Given the description of an element on the screen output the (x, y) to click on. 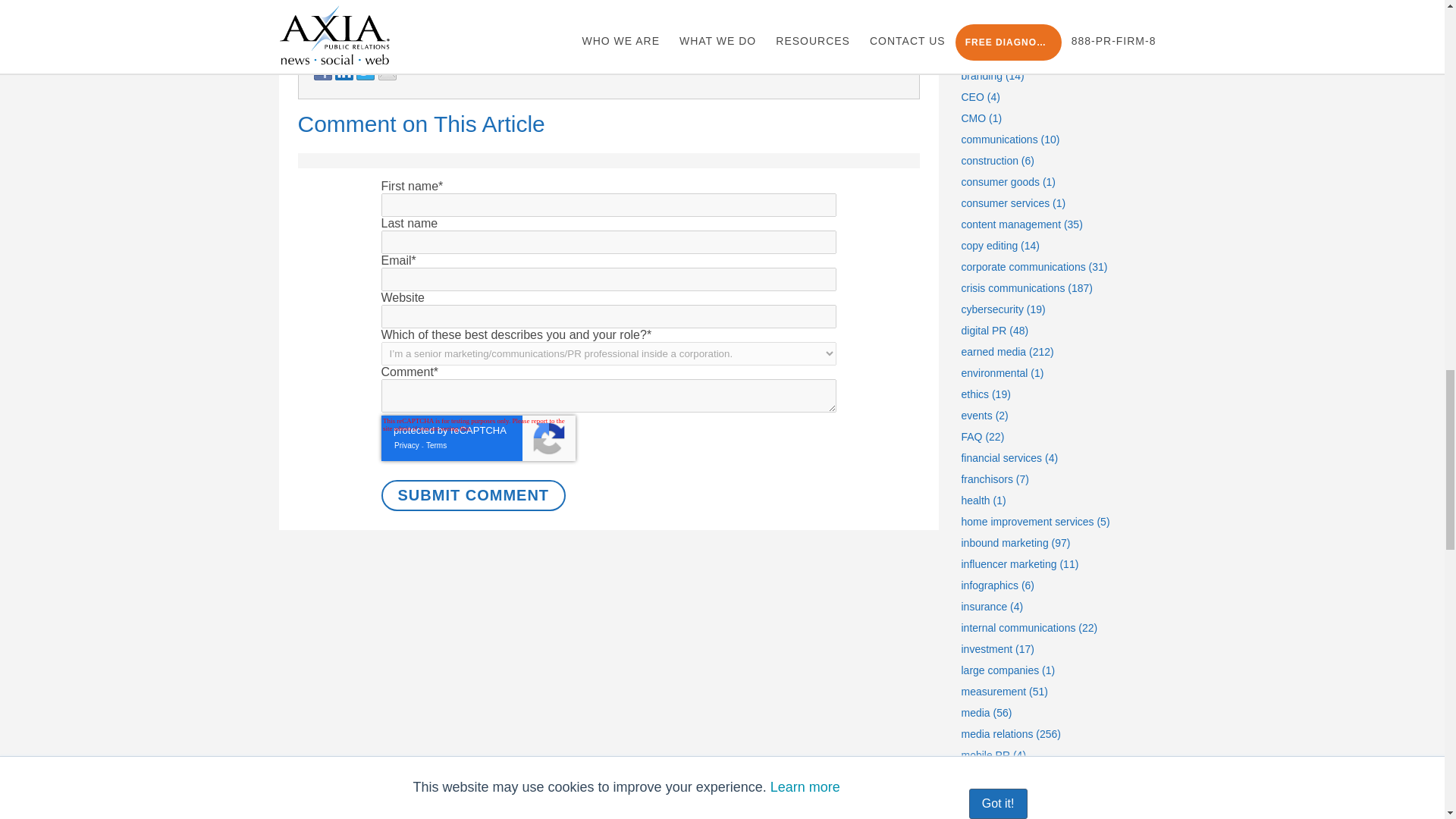
Submit Comment (473, 495)
reCAPTCHA (477, 438)
